Given the description of an element on the screen output the (x, y) to click on. 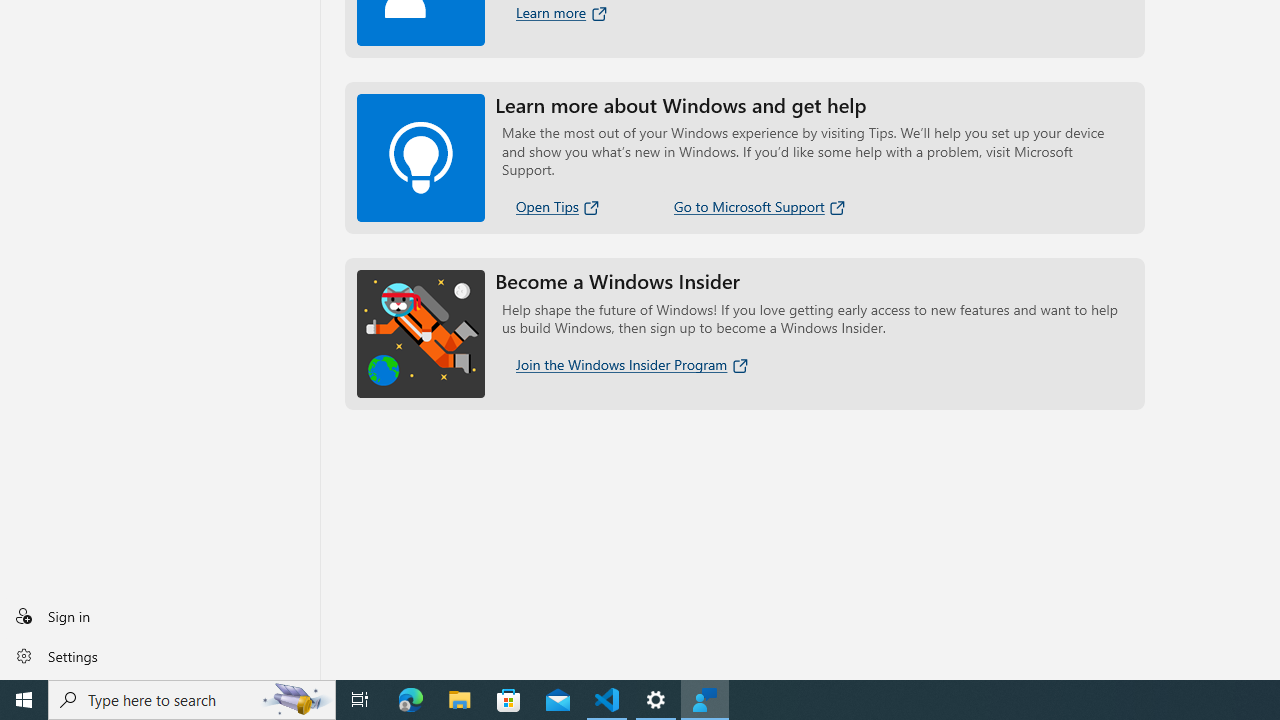
Search highlights icon opens search home window (295, 699)
